Given the description of an element on the screen output the (x, y) to click on. 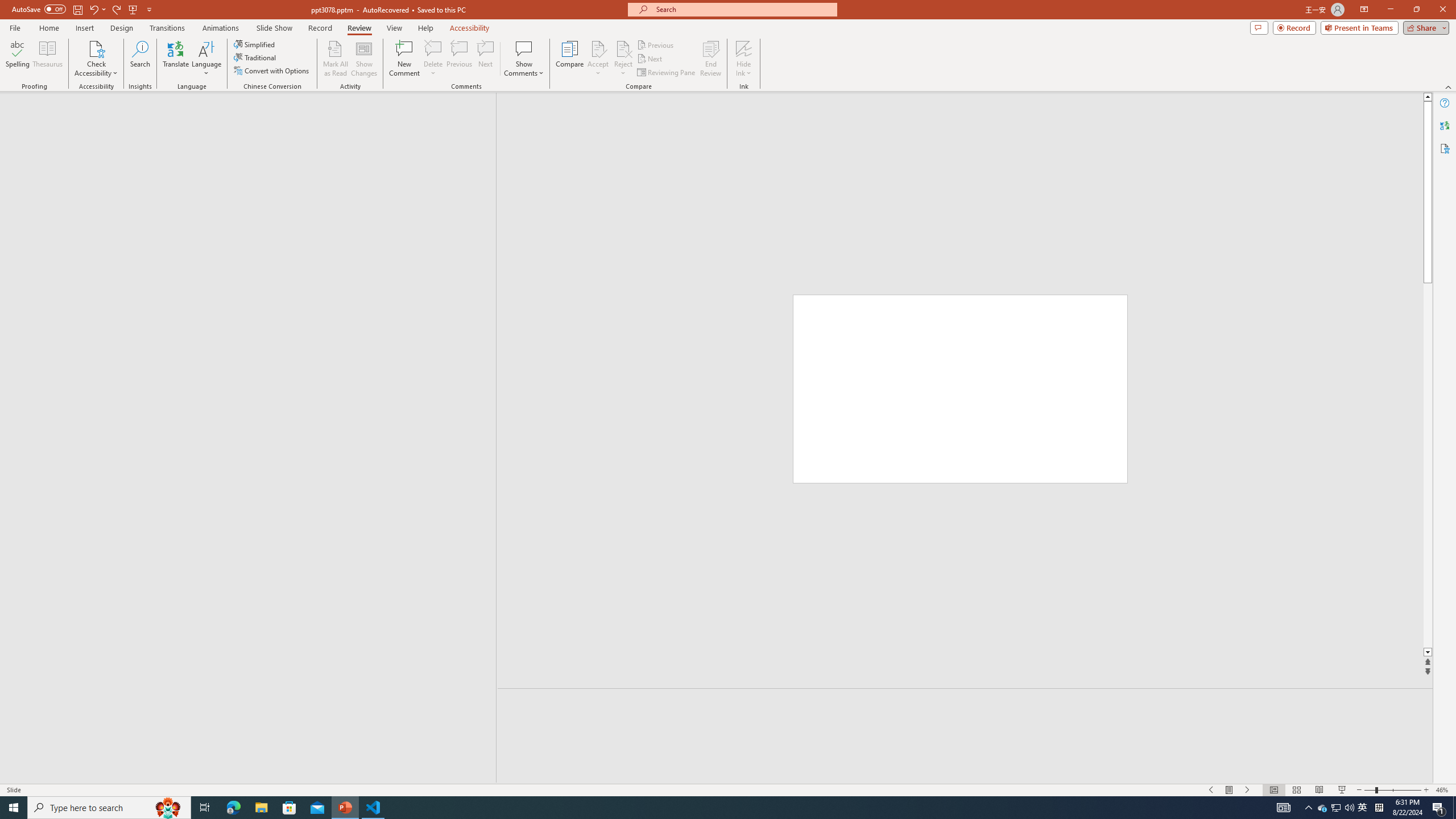
Spelling... (17, 58)
Hide Ink (743, 48)
Compare (569, 58)
Delete (432, 58)
Zoom 46% (1443, 790)
Reject (622, 58)
Simplified (254, 44)
